Given the description of an element on the screen output the (x, y) to click on. 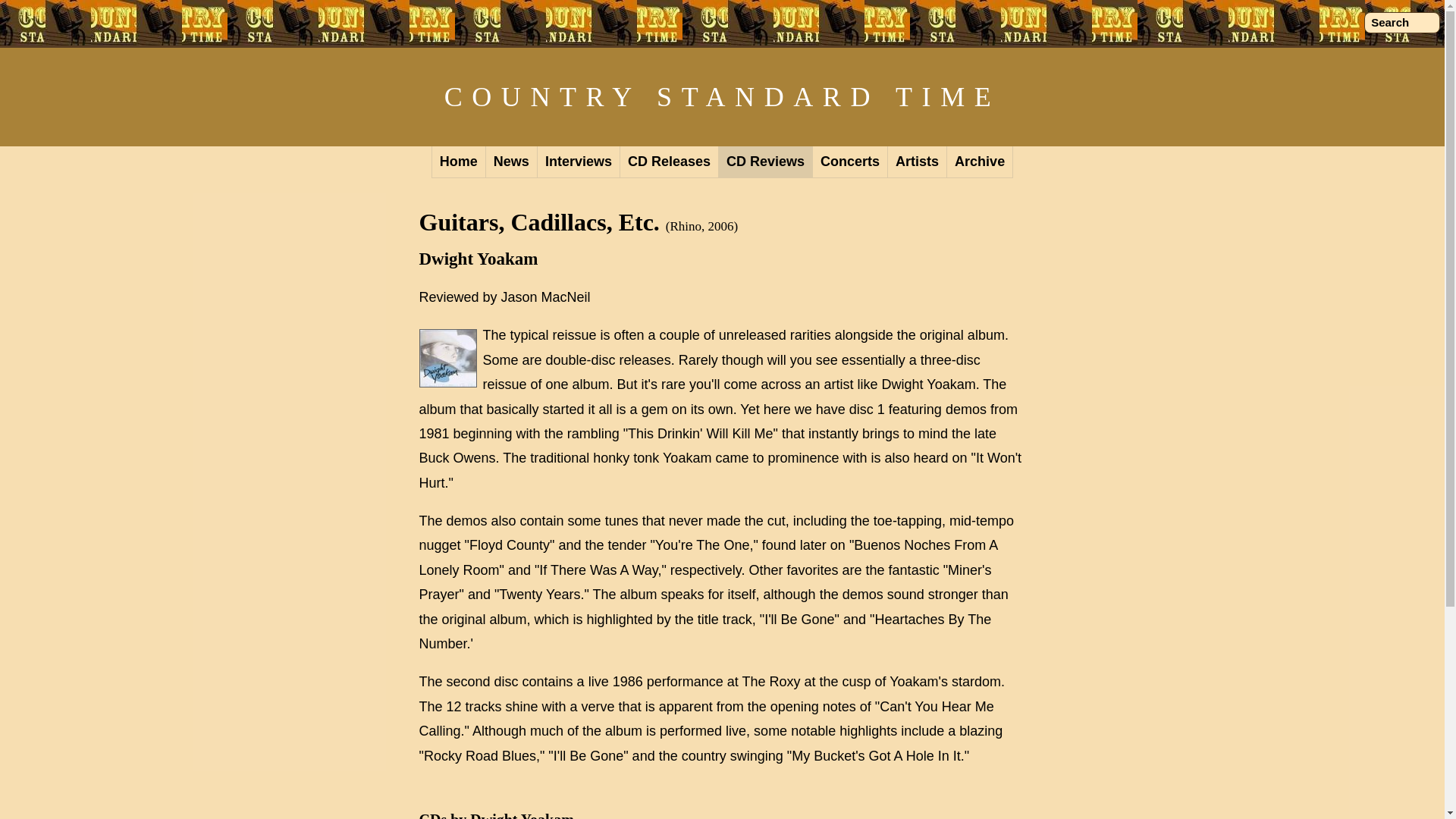
CD Reviews (765, 162)
CD Releases (669, 162)
Concerts (850, 162)
 Search (1401, 22)
Artists (917, 162)
News (511, 162)
Interviews (578, 162)
 Search (1401, 22)
Archive (980, 162)
COUNTRY STANDARD TIME (722, 96)
